Given the description of an element on the screen output the (x, y) to click on. 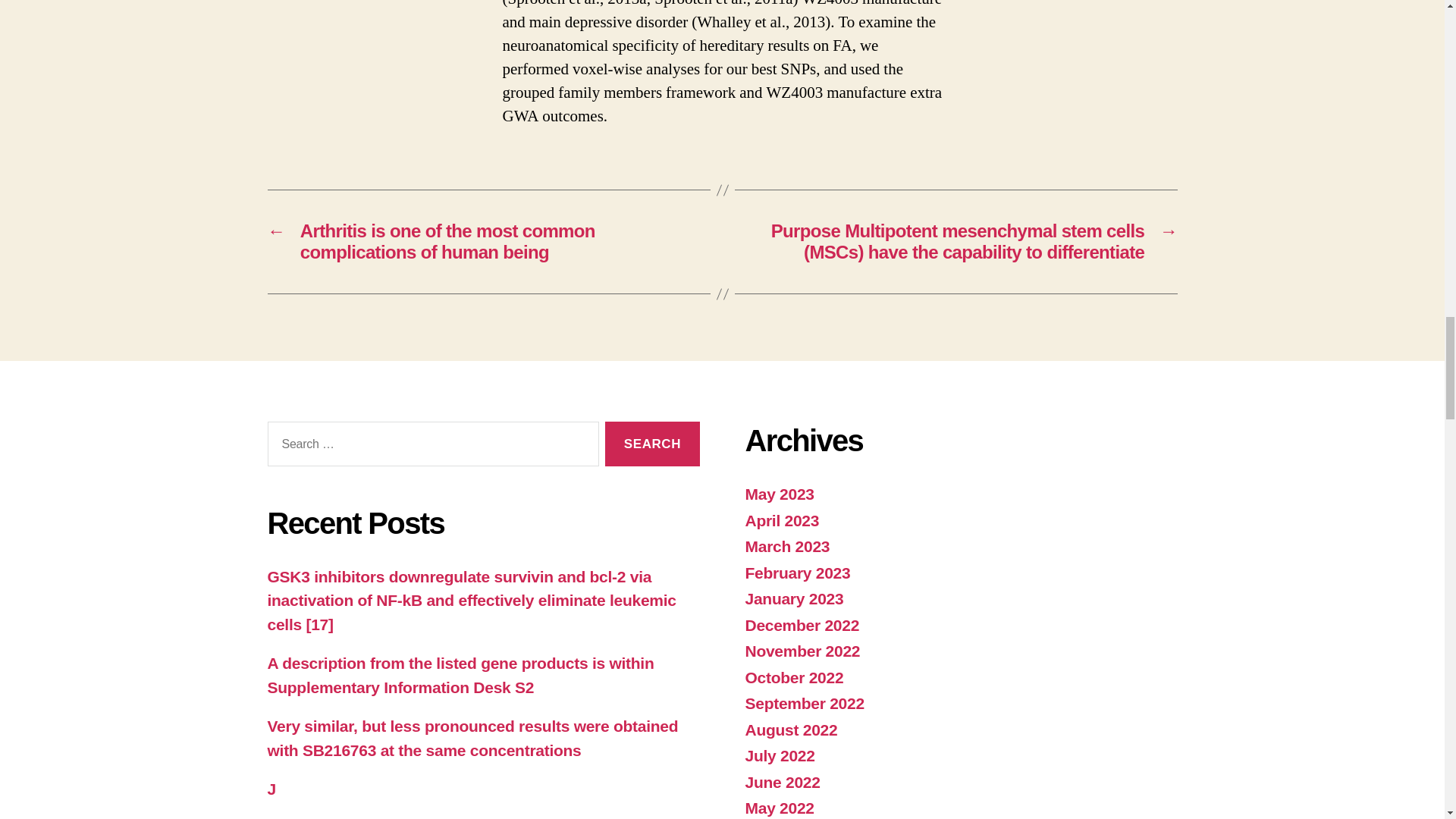
May 2023 (778, 493)
January 2023 (793, 598)
November 2022 (802, 651)
February 2023 (797, 572)
October 2022 (793, 677)
May 2022 (778, 807)
June 2022 (781, 782)
Search (651, 443)
December 2022 (801, 624)
March 2023 (786, 546)
April 2023 (781, 520)
September 2022 (803, 702)
Search (651, 443)
